Given the description of an element on the screen output the (x, y) to click on. 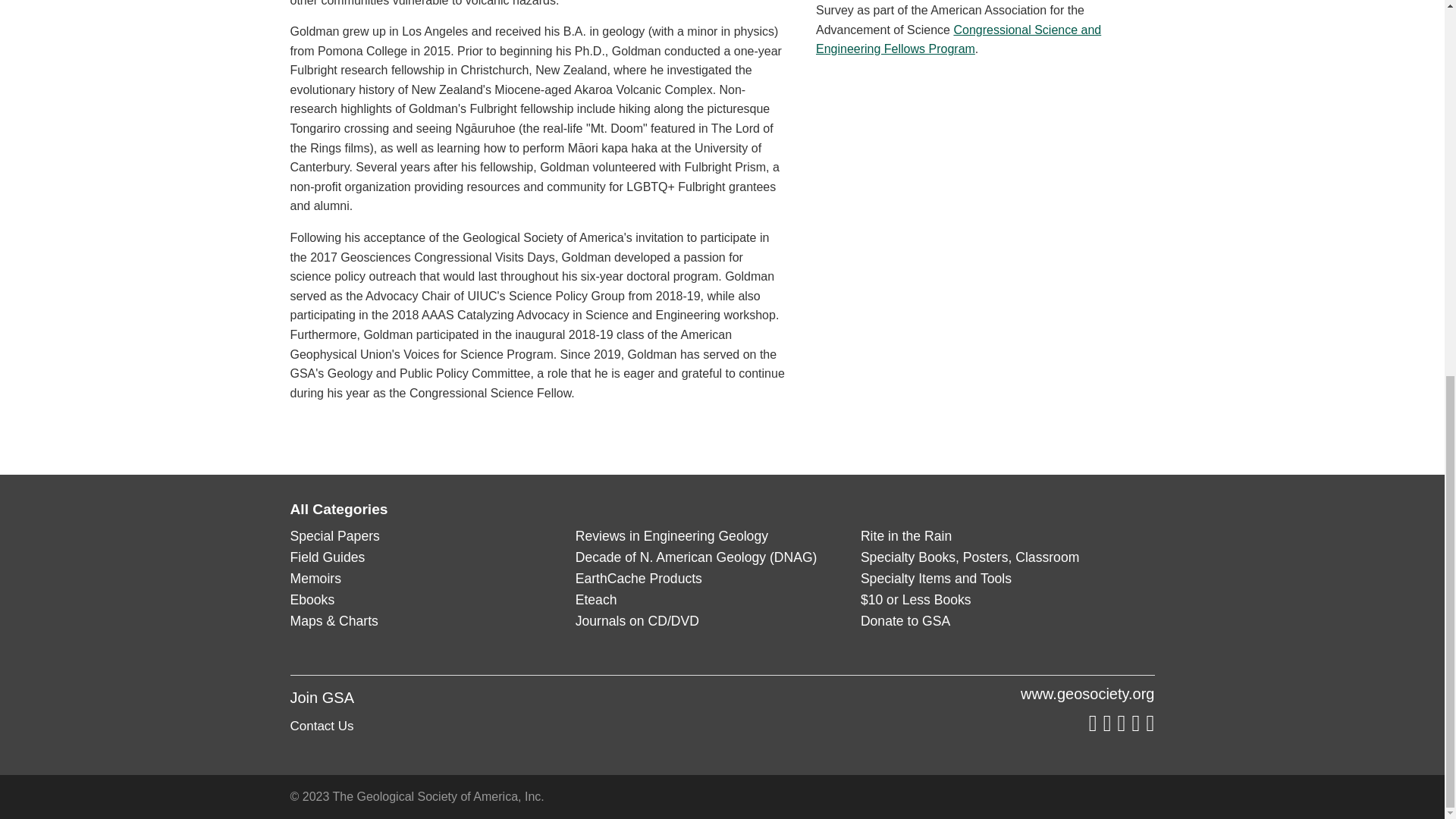
Field Guides (327, 557)
Specialty Books, Posters, Classroom (969, 557)
EarthCache Products (638, 578)
Special Papers (333, 535)
Rite in the Rain (906, 535)
Reviews in Engineering Geology (671, 535)
Eteach (596, 599)
Contact Us (321, 726)
Congressional Science and Engineering Fellows Program (957, 39)
Ebooks (311, 599)
Specialty Items and Tools (935, 578)
Donate to GSA (905, 620)
Memoirs (314, 578)
Join GSA (321, 697)
www.geosociety.org (1087, 693)
